Given the description of an element on the screen output the (x, y) to click on. 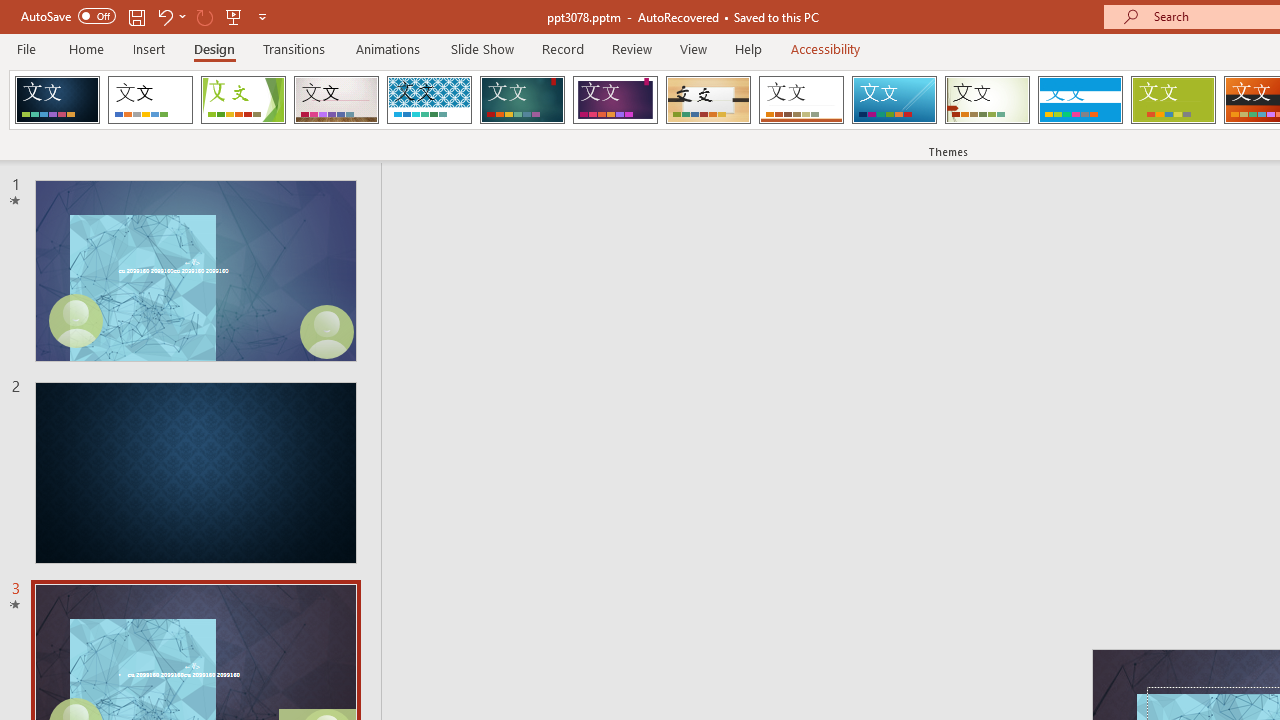
Dividend (57, 100)
Ion (522, 100)
Retrospect (801, 100)
Integral (429, 100)
Wisp (987, 100)
Office Theme (150, 100)
